Given the description of an element on the screen output the (x, y) to click on. 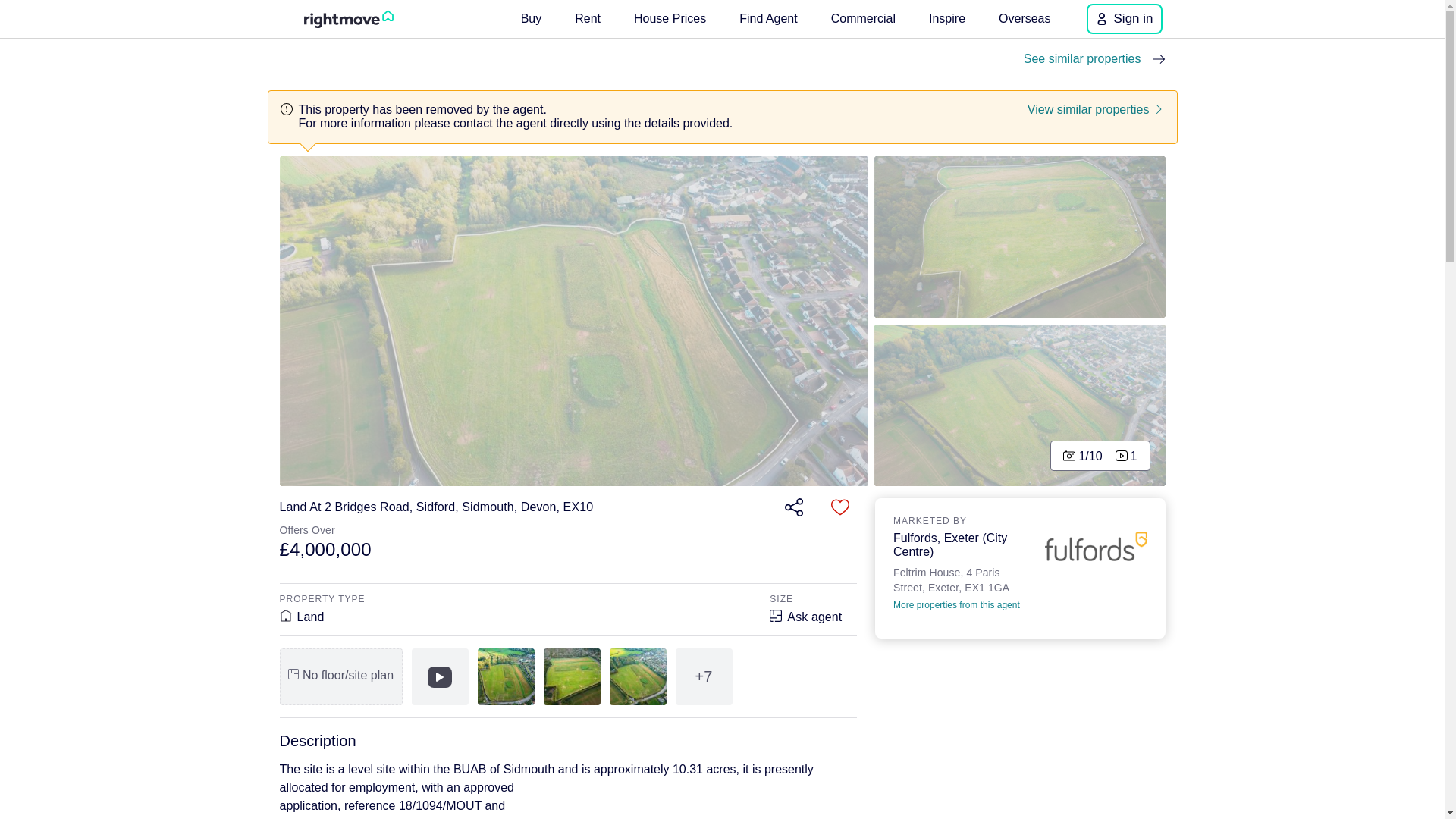
Overseas (1024, 18)
House Prices (669, 18)
Inspire (947, 18)
Save this property (840, 506)
Picture No. 02 (1020, 405)
Rent (588, 18)
Commercial (863, 18)
Site Video (438, 676)
Buy (531, 18)
Find Agent (768, 18)
Picture No. 04 (1020, 236)
Share this property (792, 506)
